Given the description of an element on the screen output the (x, y) to click on. 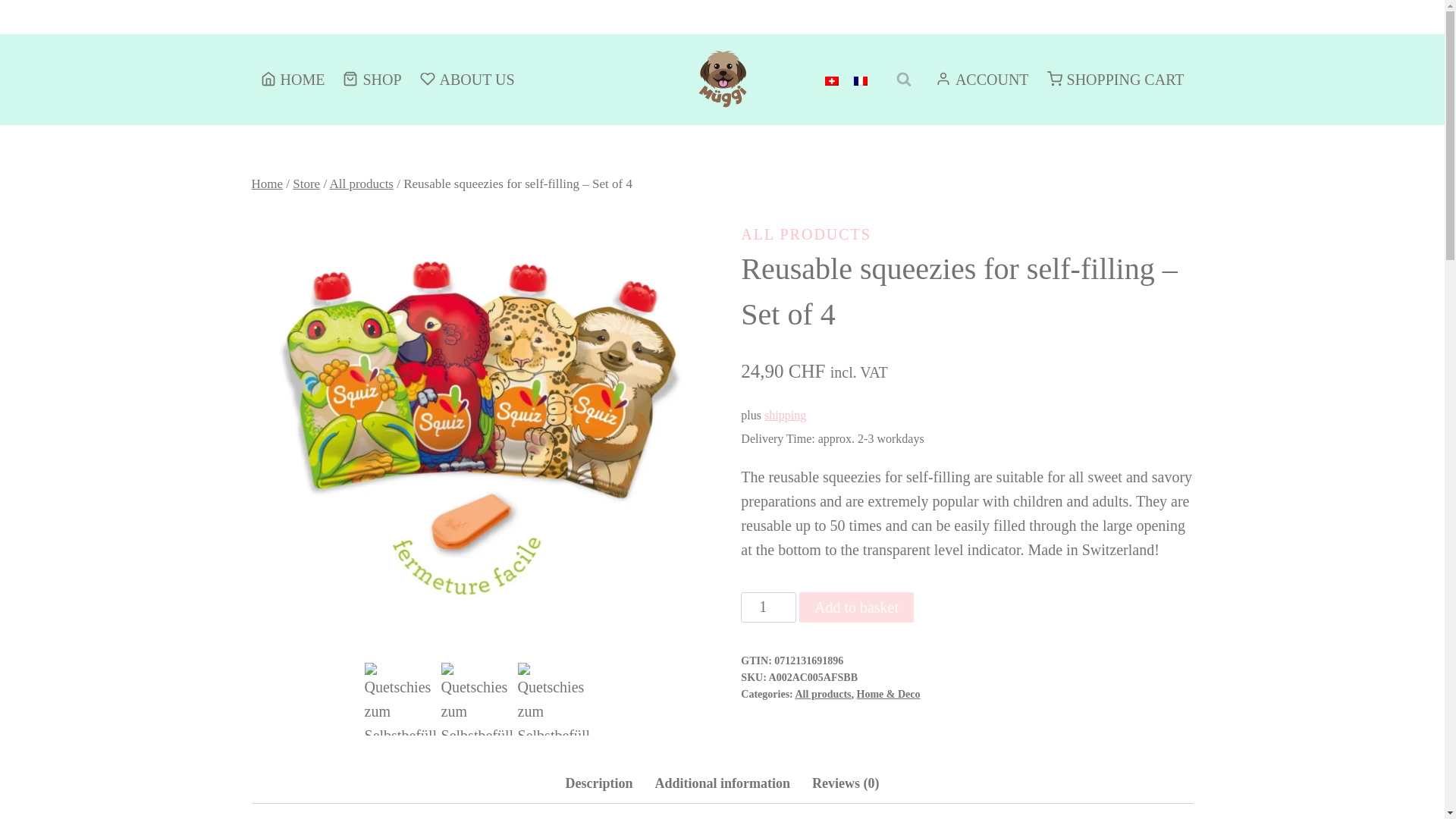
Home (267, 183)
ACCOUNT (982, 79)
1 (768, 607)
All products (361, 183)
ALL PRODUCTS (805, 234)
Description (597, 783)
HOME (292, 79)
All products (822, 694)
shipping (785, 414)
Additional information (721, 783)
